Given the description of an element on the screen output the (x, y) to click on. 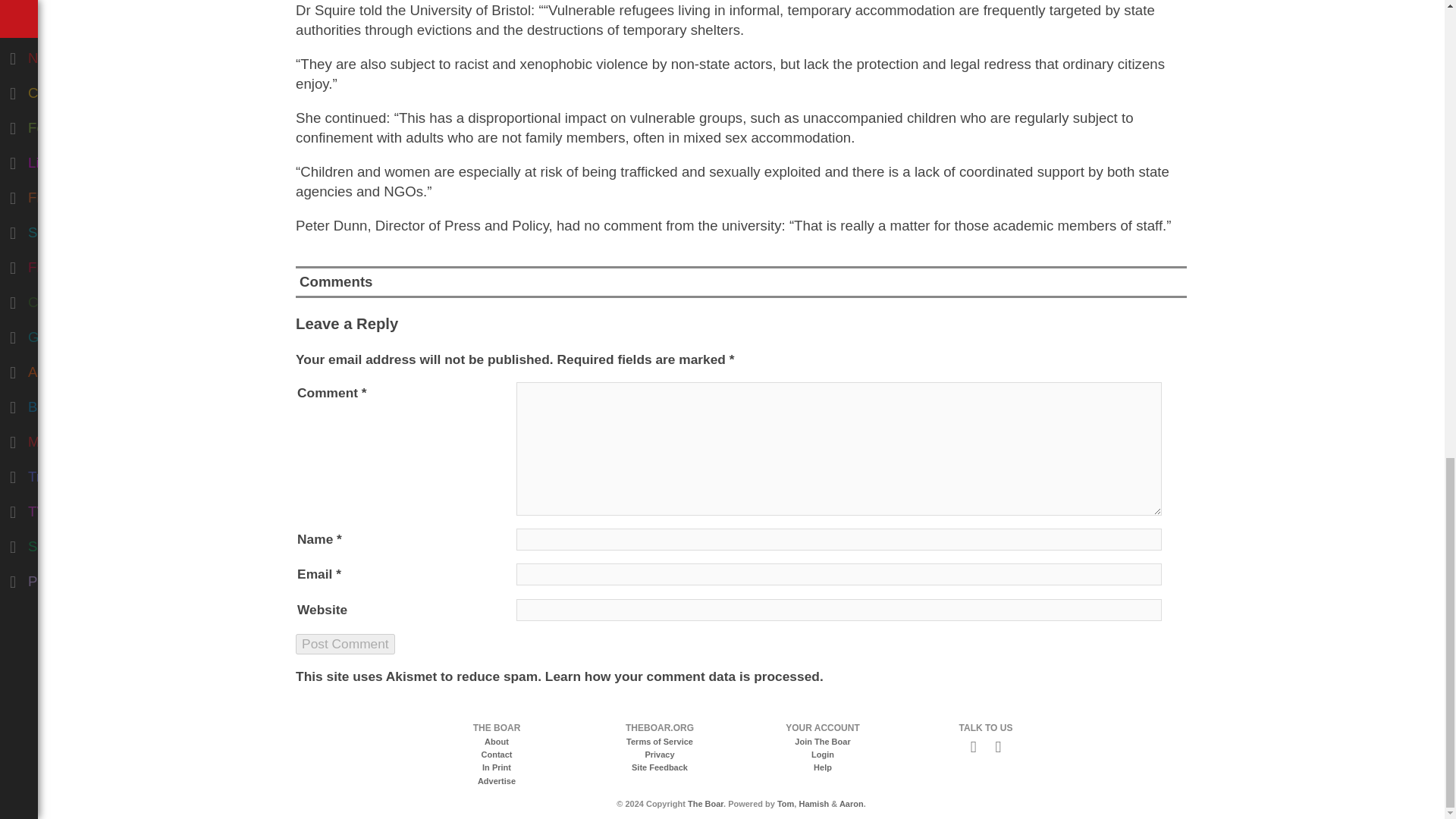
The Boar (705, 803)
In Print (496, 767)
About (496, 741)
Post Comment (344, 643)
Contact (496, 754)
Login (822, 754)
Learn how your comment data is processed (681, 676)
Advertise (496, 780)
Post Comment (344, 643)
